Given the description of an element on the screen output the (x, y) to click on. 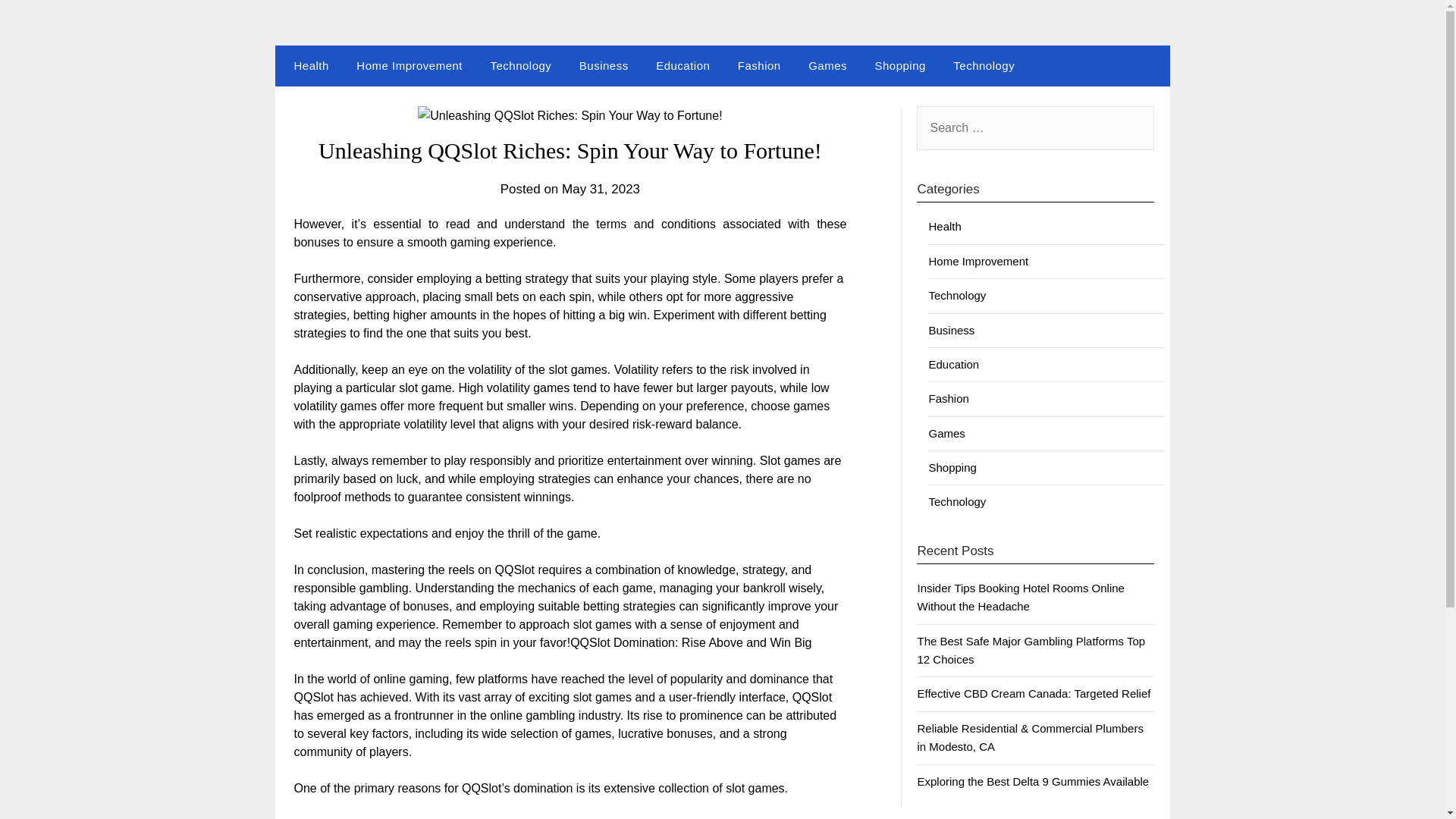
Technology (983, 65)
Effective CBD Cream Canada: Targeted Relief (1033, 693)
The Best Safe Major Gambling Platforms Top 12 Choices (1030, 649)
Education (953, 364)
Home Improvement (977, 260)
Education (682, 65)
Games (827, 65)
Shopping (951, 467)
Search (38, 22)
Technology (956, 295)
Business (951, 329)
Home Improvement (408, 65)
Technology (520, 65)
Business (603, 65)
Fashion (759, 65)
